Given the description of an element on the screen output the (x, y) to click on. 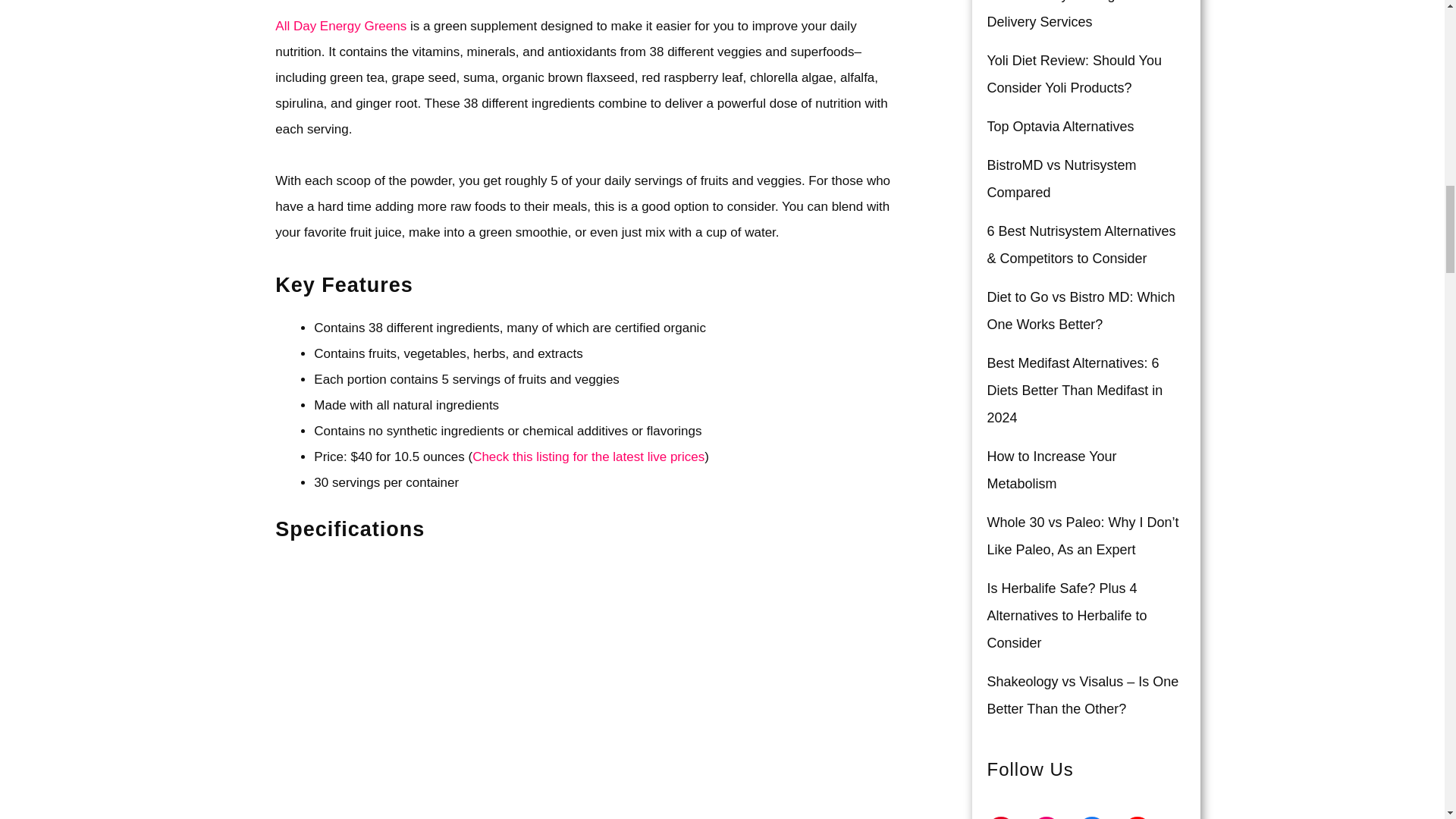
All Day Energy Greens (340, 25)
Check this listing for the latest live prices (587, 456)
